Given the description of an element on the screen output the (x, y) to click on. 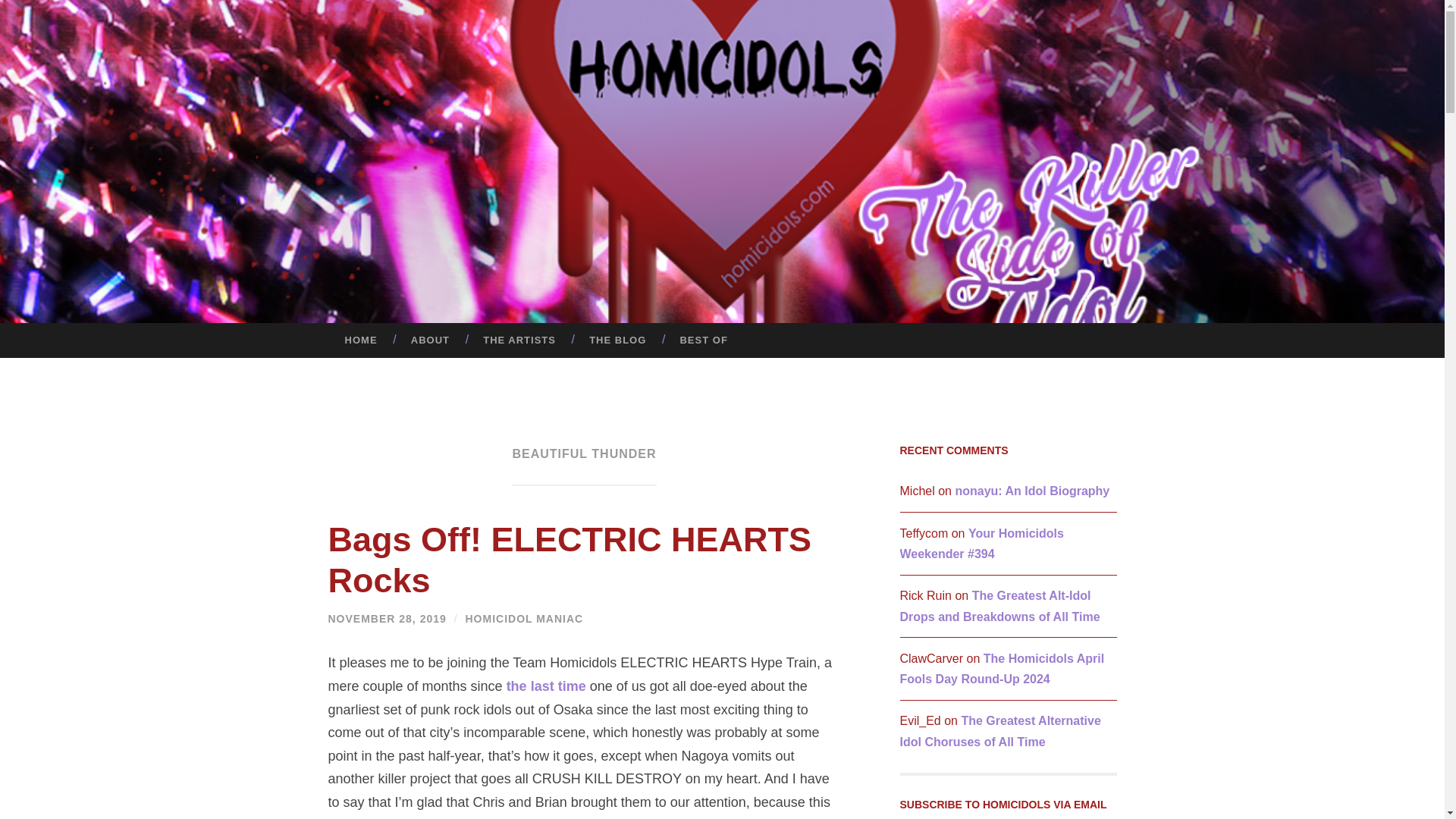
Bags Off! ELECTRIC HEARTS Rocks (568, 559)
SKIP TO CONTENT (16, 334)
nonayu: An Idol Biography (1032, 490)
BEST OF (703, 339)
HOMICIDOL MANIAC (523, 618)
NOVEMBER 28, 2019 (386, 618)
THE BLOG (617, 339)
the last time (546, 685)
ABOUT (429, 339)
The Homicidols April Fools Day Round-Up 2024 (1001, 668)
HOMICIDOLS (833, 186)
THE ARTISTS (518, 339)
The Greatest Alternative Idol Choruses of All Time (999, 730)
HOME (360, 339)
The Greatest Alt-Idol Drops and Breakdowns of All Time (999, 605)
